Given the description of an element on the screen output the (x, y) to click on. 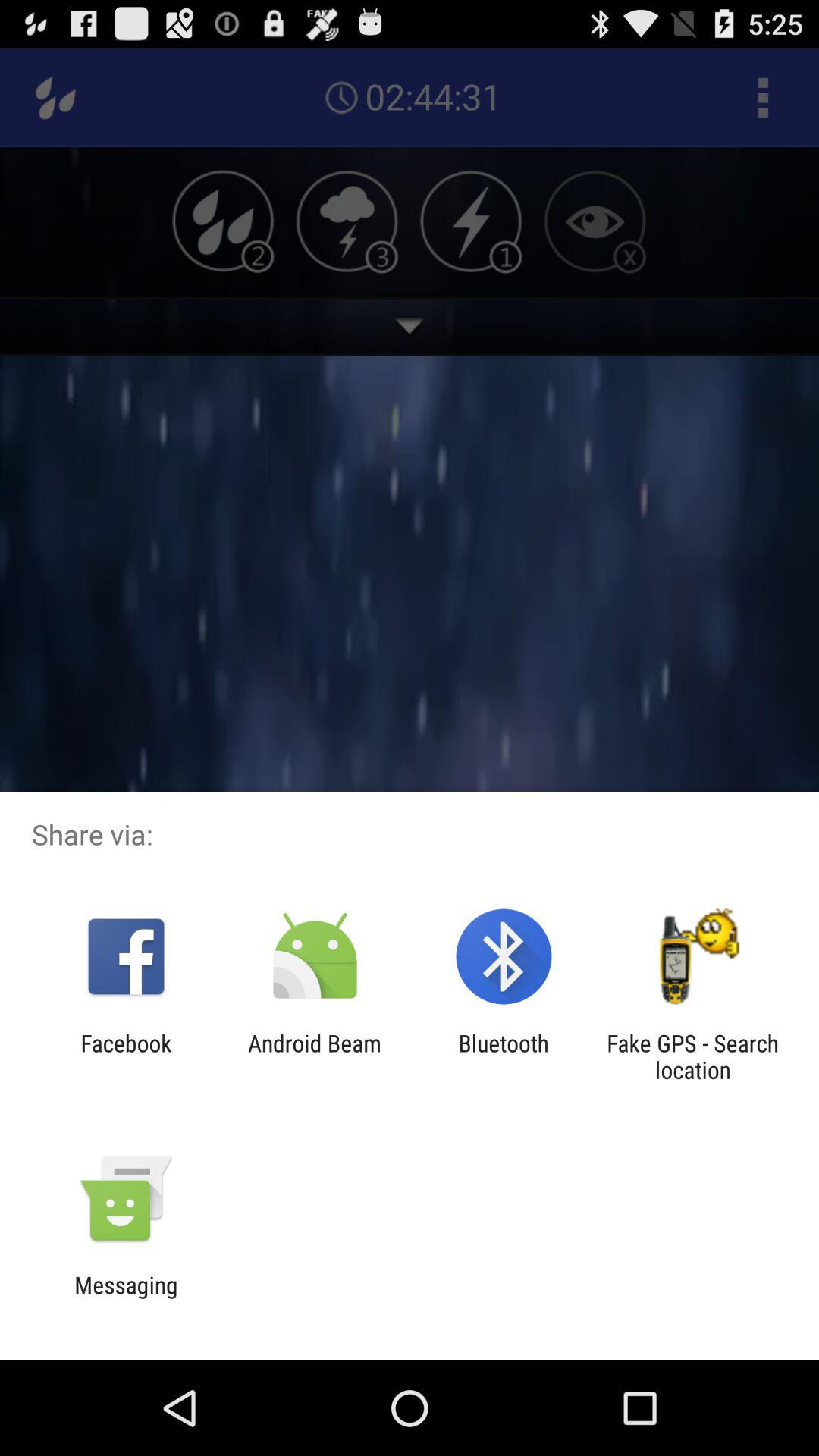
open the app next to android beam item (503, 1056)
